Given the description of an element on the screen output the (x, y) to click on. 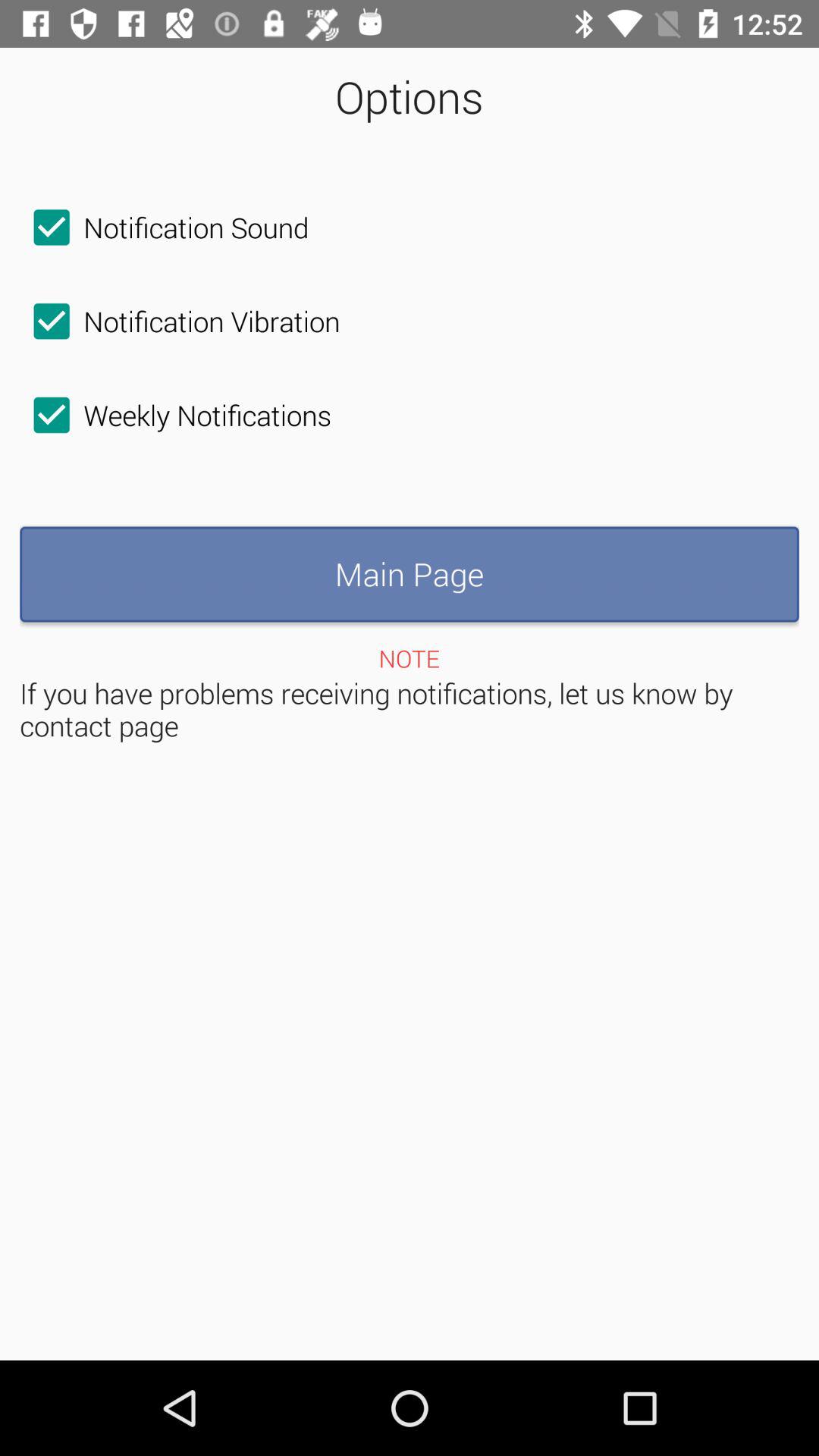
flip until weekly notifications checkbox (175, 415)
